Given the description of an element on the screen output the (x, y) to click on. 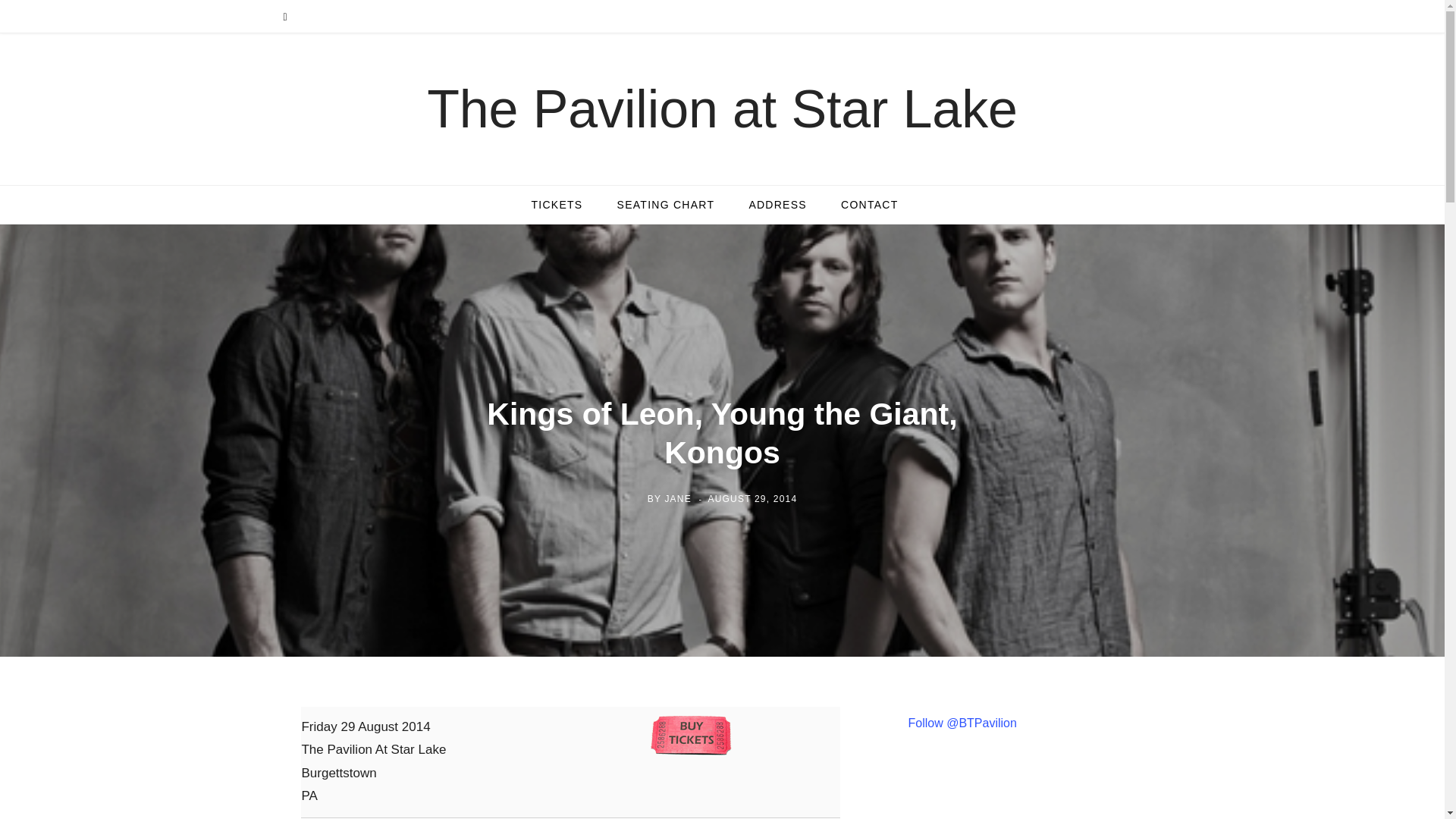
The Pavilion at Star Lake Address (777, 204)
The Pavilion at Star Lake (721, 108)
The Pavilion at Star Lake (721, 108)
Advertisement (1037, 795)
TICKETS (555, 204)
CONTACT (868, 204)
ADDRESS (777, 204)
The Pavilion at Star Lake Seating Chart (666, 204)
Posts by jane (676, 498)
The Pavilion at Star Lake Contact (868, 204)
JANE (676, 498)
The Pavilion at Star Lake Tickets (555, 204)
SEATING CHART (666, 204)
